Given the description of an element on the screen output the (x, y) to click on. 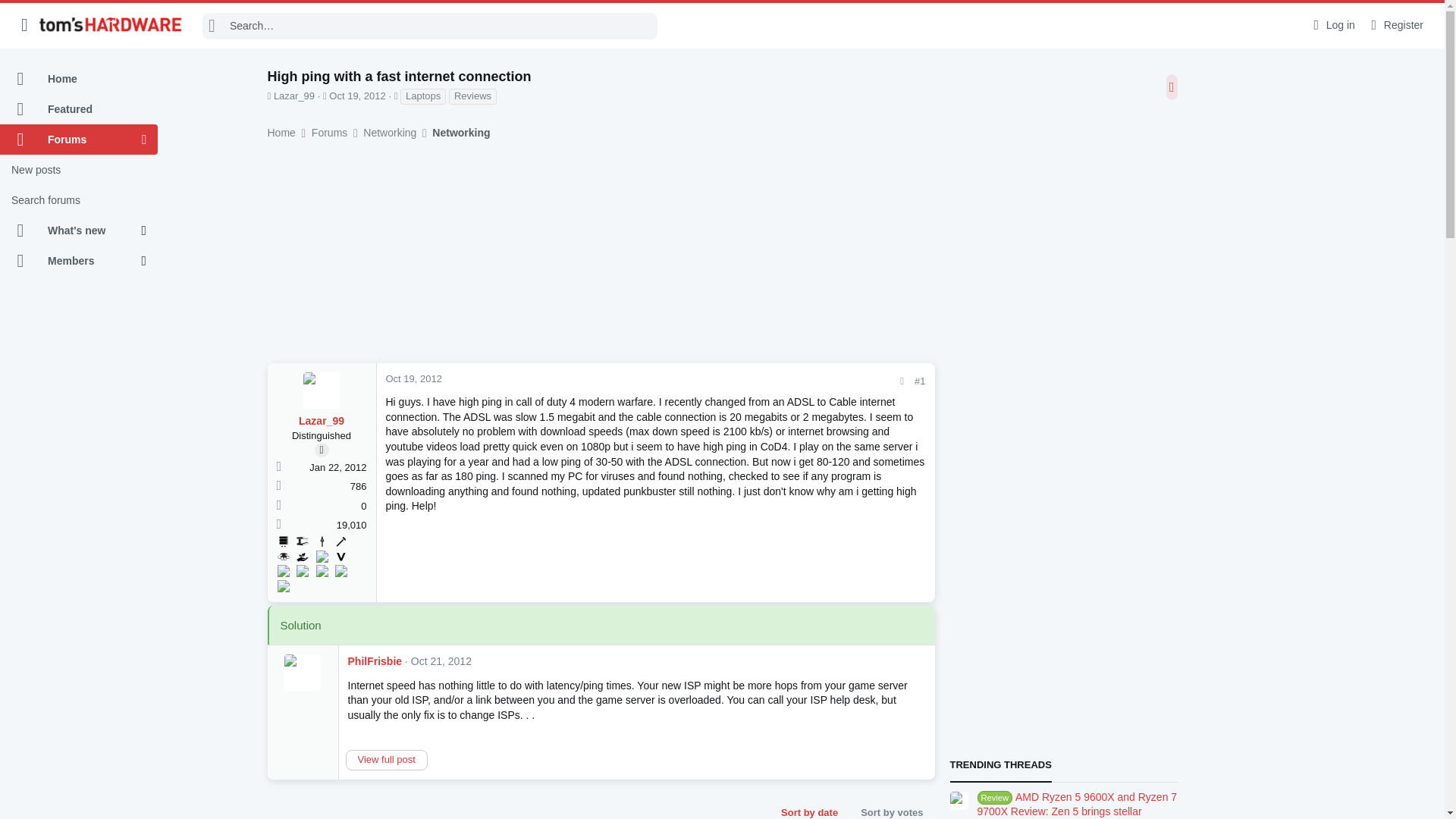
New posts (78, 169)
Log in (1332, 24)
Register (1395, 24)
Search forums (78, 200)
Forums (70, 139)
Original poster (321, 450)
Home (78, 78)
Featured (78, 109)
Oct 19, 2012 at 9:46 PM (357, 95)
What's new (70, 230)
